Given the description of an element on the screen output the (x, y) to click on. 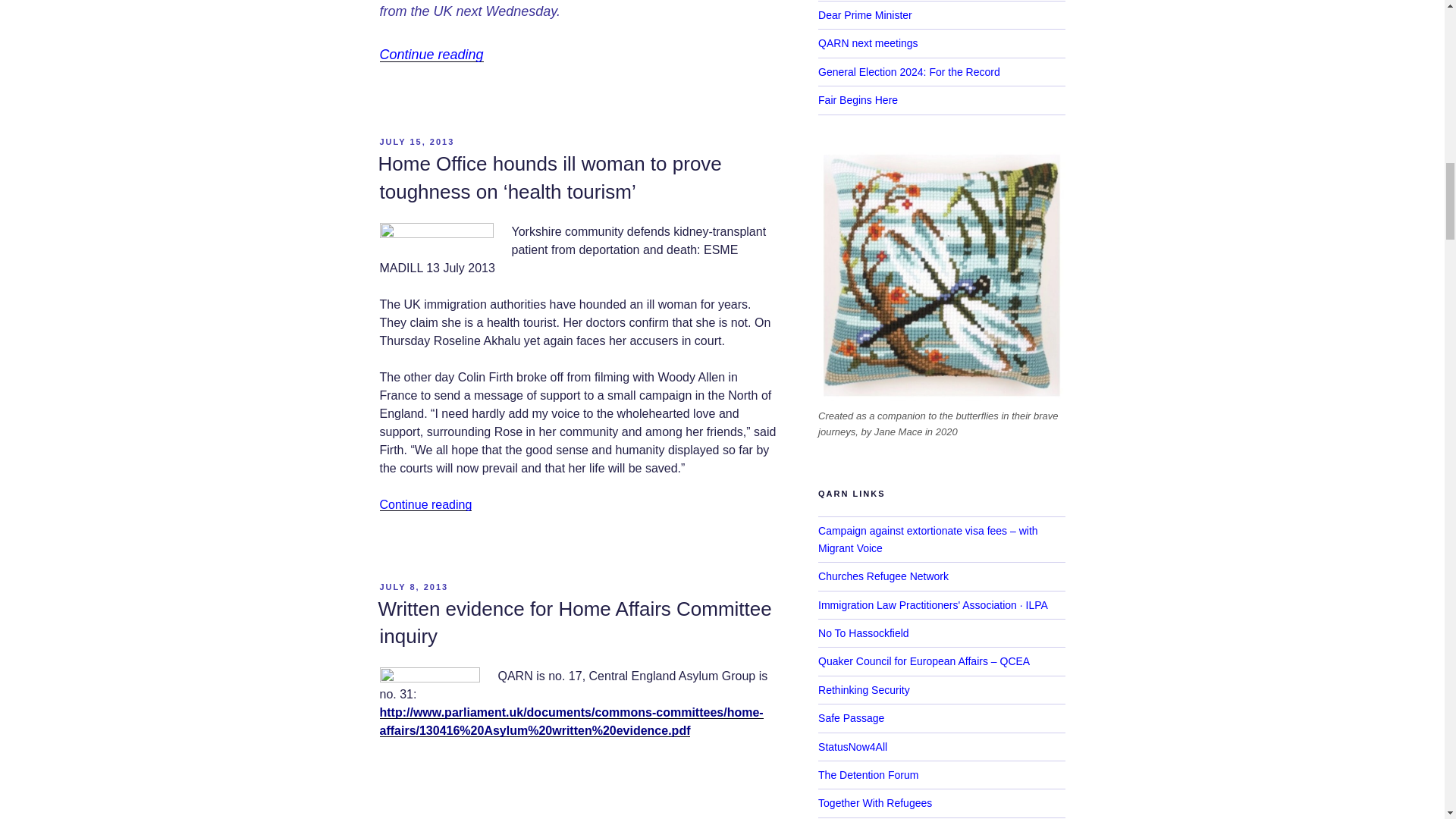
Written evidence for Home Affairs Committee inquiry (574, 622)
open democracy (435, 235)
JULY 15, 2013 (416, 141)
Join the campaign against extortionate visa fees (928, 538)
JULY 8, 2013 (413, 586)
